Given the description of an element on the screen output the (x, y) to click on. 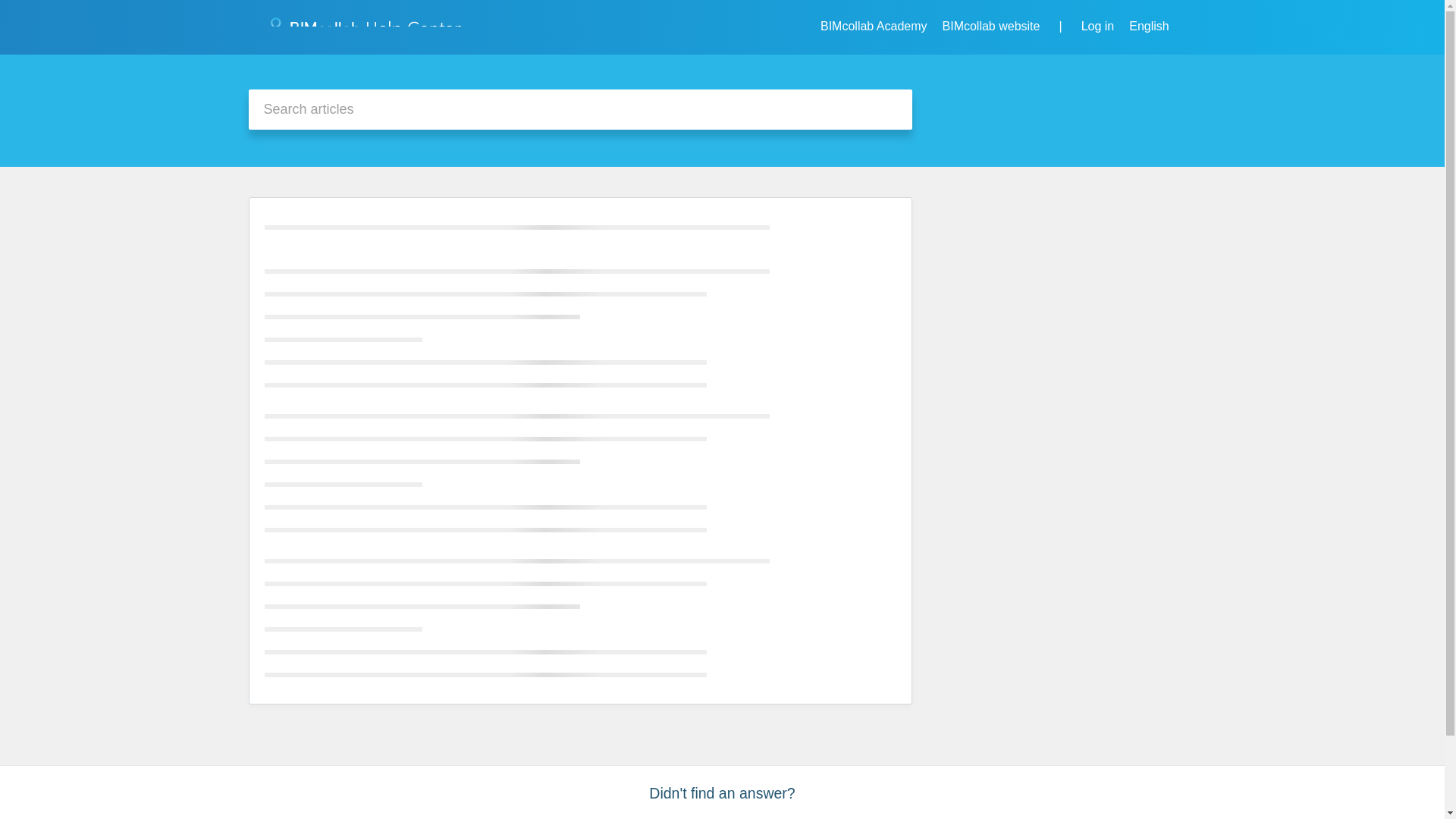
English (1154, 26)
BIMcollab website (991, 26)
BIMcollab Academy (874, 26)
Log in (1098, 25)
